Given the description of an element on the screen output the (x, y) to click on. 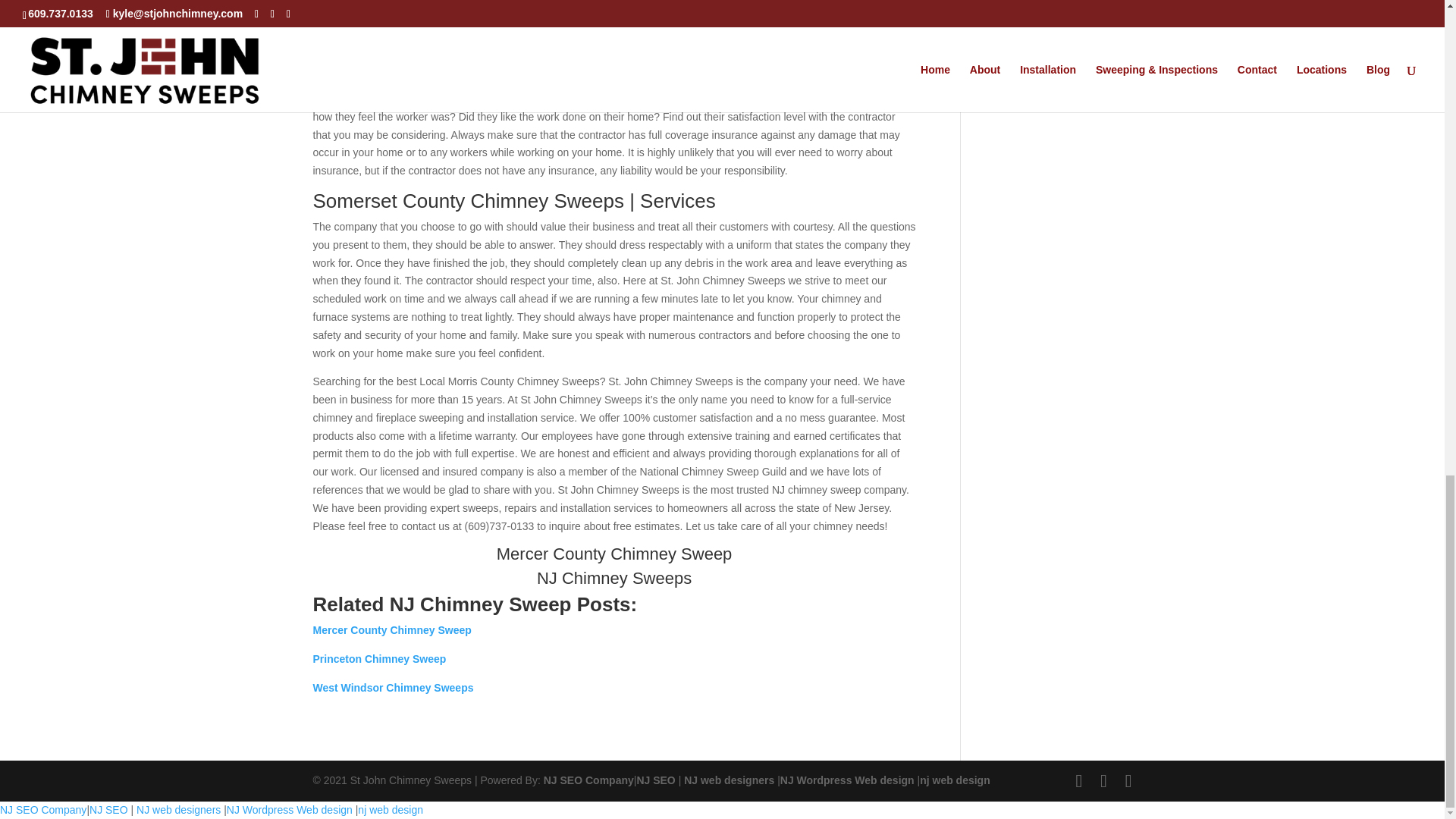
Mercer County Chimney Sweep (391, 630)
NJ web designers (730, 779)
Mercer County Chimney Sweep (614, 553)
Princeton Chimney Sweep (379, 658)
nj web design (955, 779)
NJ Wordpress Web design (848, 779)
NJ Chimney Sweeps (614, 578)
NJ SEO Company (588, 779)
West Windsor Chimney Sweeps (393, 687)
NJ SEO (657, 779)
